Given the description of an element on the screen output the (x, y) to click on. 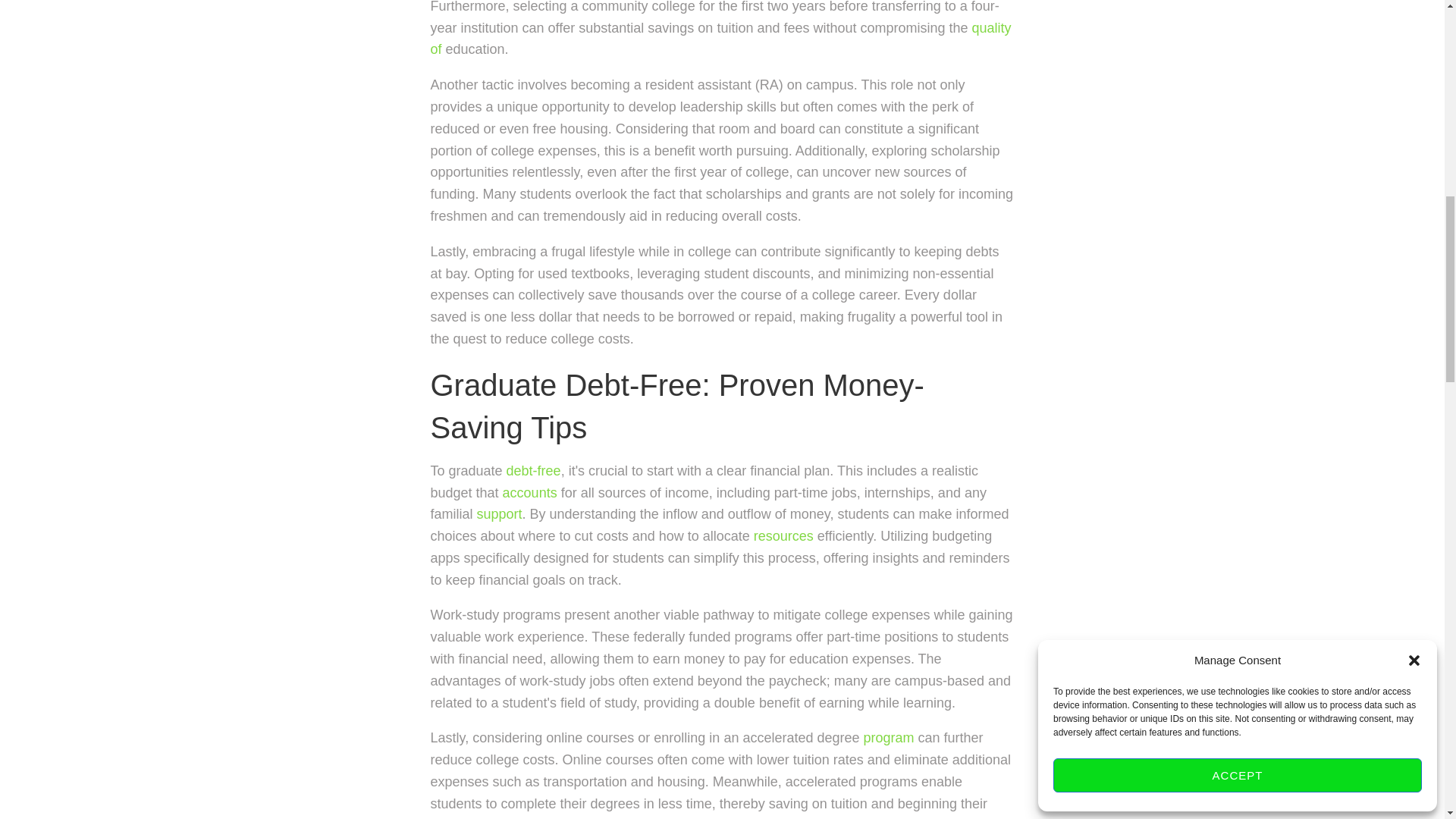
Posts tagged with support (499, 513)
Posts tagged with resources (783, 535)
Posts tagged with accounts (529, 492)
Posts tagged with debt-free (533, 470)
Posts tagged with program (888, 737)
Posts tagged with quality of (720, 38)
